Given the description of an element on the screen output the (x, y) to click on. 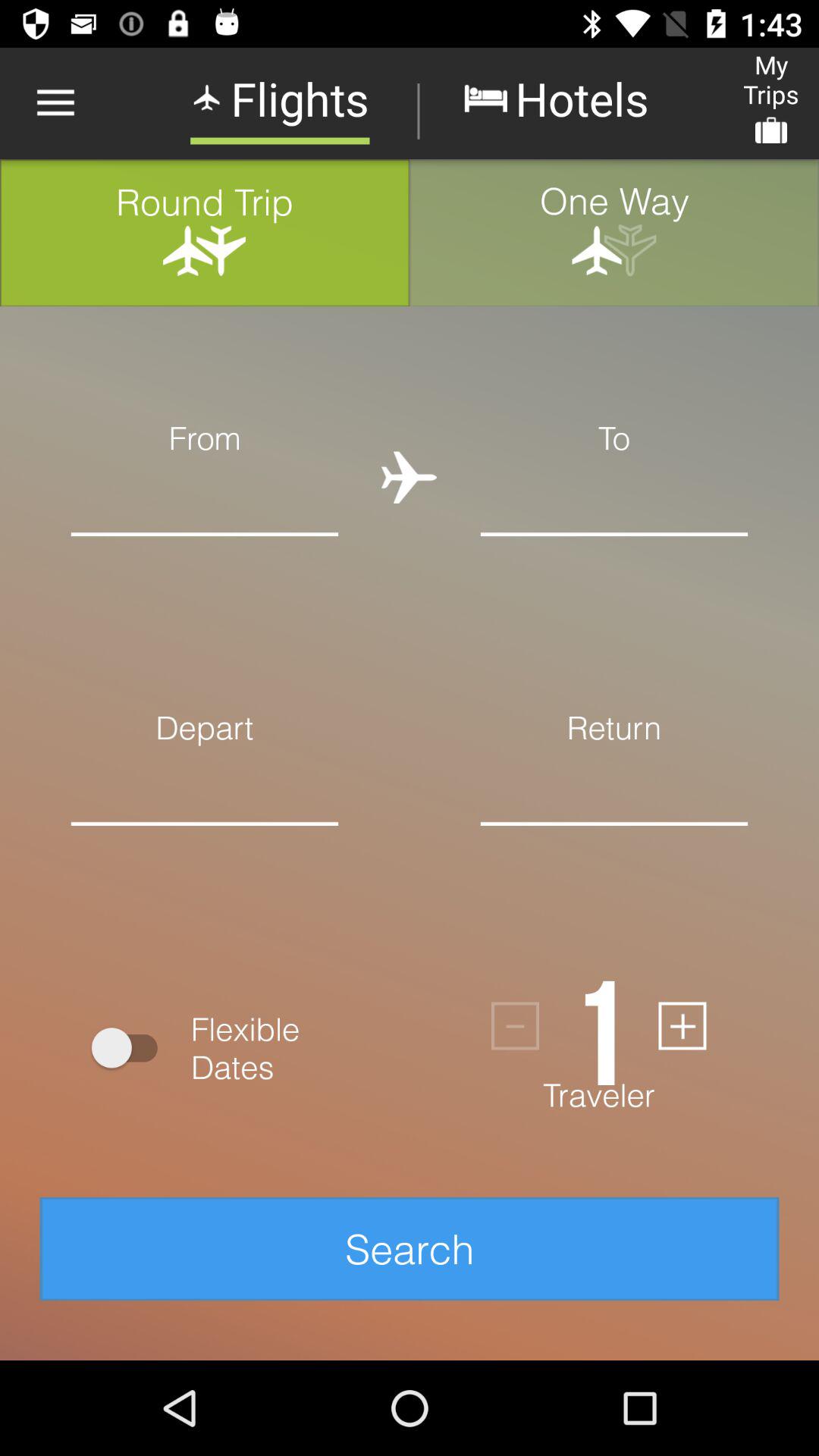
departure entry (204, 847)
